Given the description of an element on the screen output the (x, y) to click on. 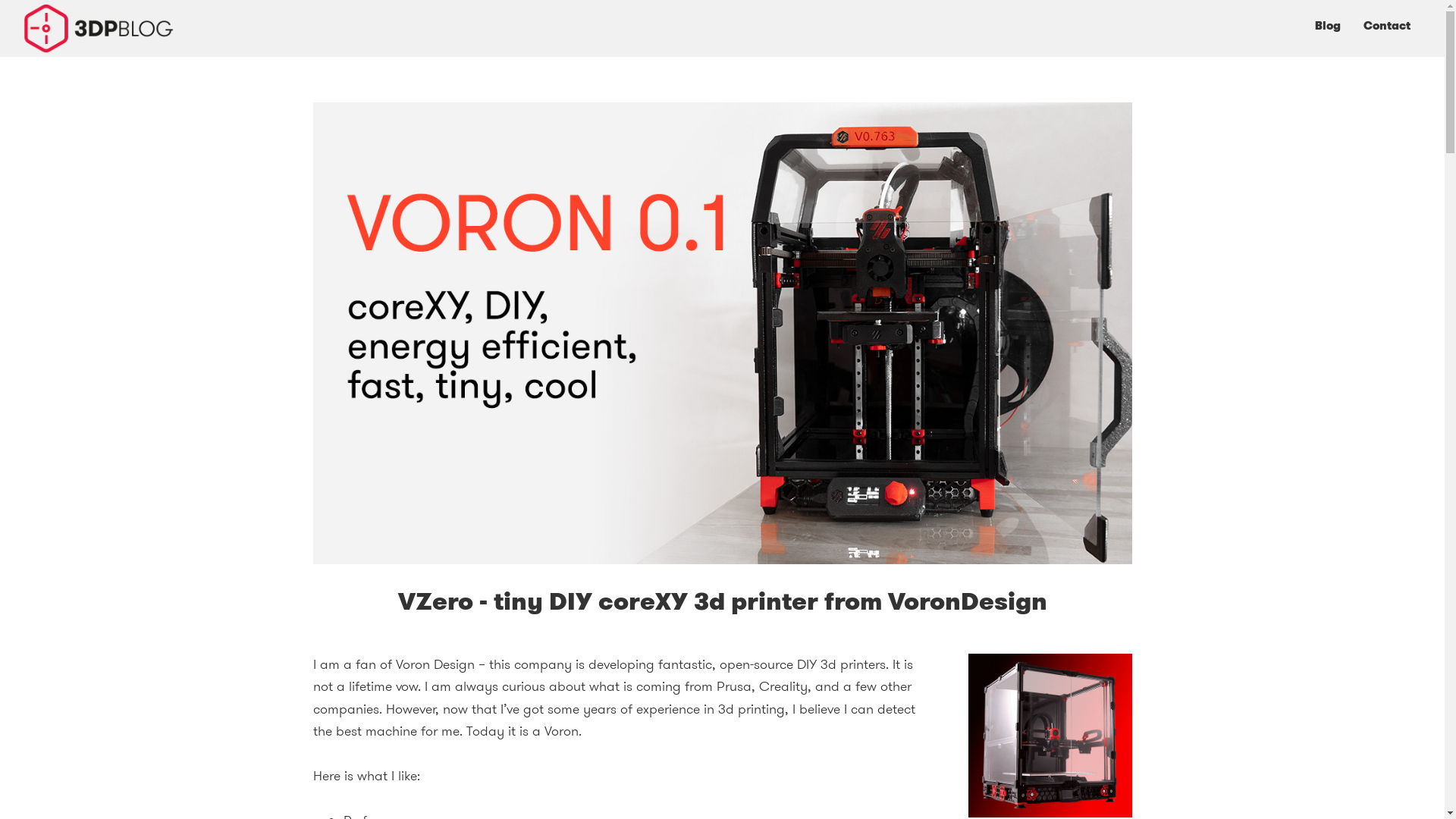
Skip to primary navigation Element type: text (0, 0)
Contact Element type: text (1386, 25)
3D printing blog Element type: text (48, 75)
Blog Element type: text (1327, 25)
Voron 2.4 3d printer kit Element type: hover (1049, 807)
